Given the description of an element on the screen output the (x, y) to click on. 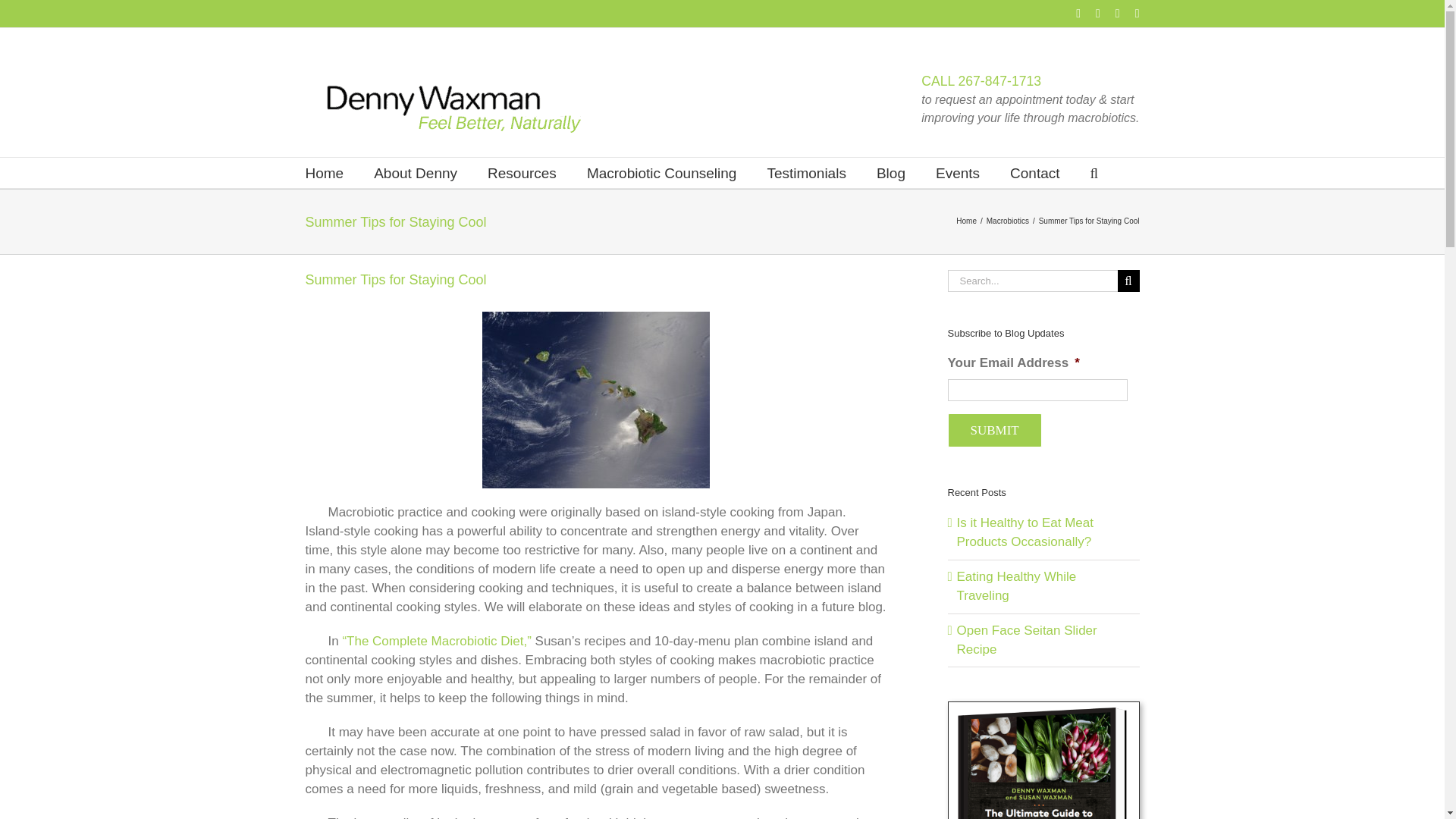
Blog (890, 173)
Events (957, 173)
About Denny (415, 173)
Resources (521, 173)
Home (323, 173)
Contact (1034, 173)
267-847-1713 (1000, 80)
Submit (994, 430)
Macrobiotic Counseling (661, 173)
Testimonials (806, 173)
